Given the description of an element on the screen output the (x, y) to click on. 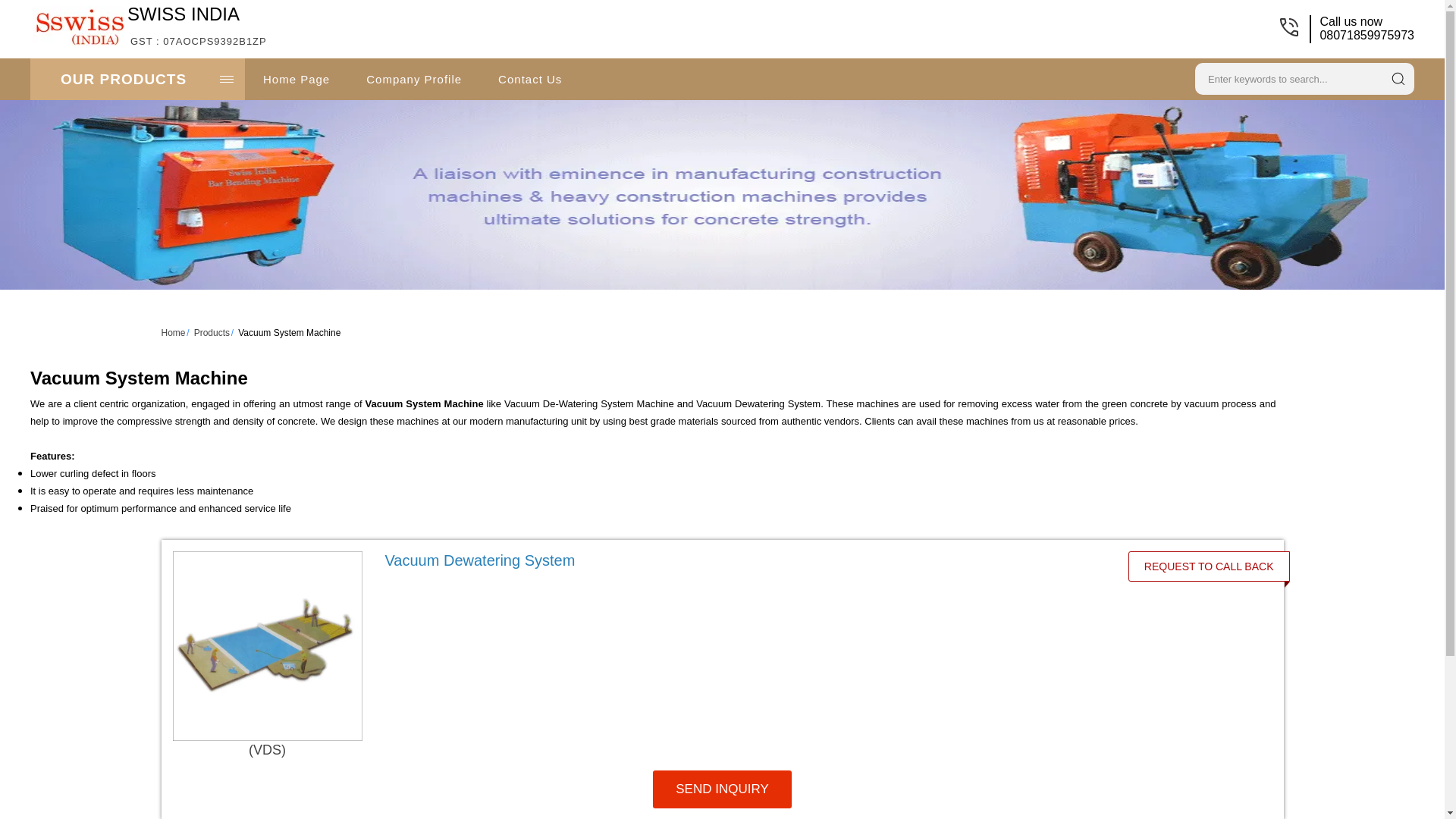
submit (1398, 78)
Products (211, 332)
Home (172, 332)
Company Profile (413, 78)
Vacuum Dewatering System (739, 560)
Enter keywords to search... (1286, 76)
Vacuum Dewatering System (480, 560)
OUR PRODUCTS (198, 25)
SEND INQUIRY (137, 78)
REQUEST TO CALL BACK (722, 789)
Contact Us (1208, 566)
Home Page (529, 78)
submit (295, 78)
